Given the description of an element on the screen output the (x, y) to click on. 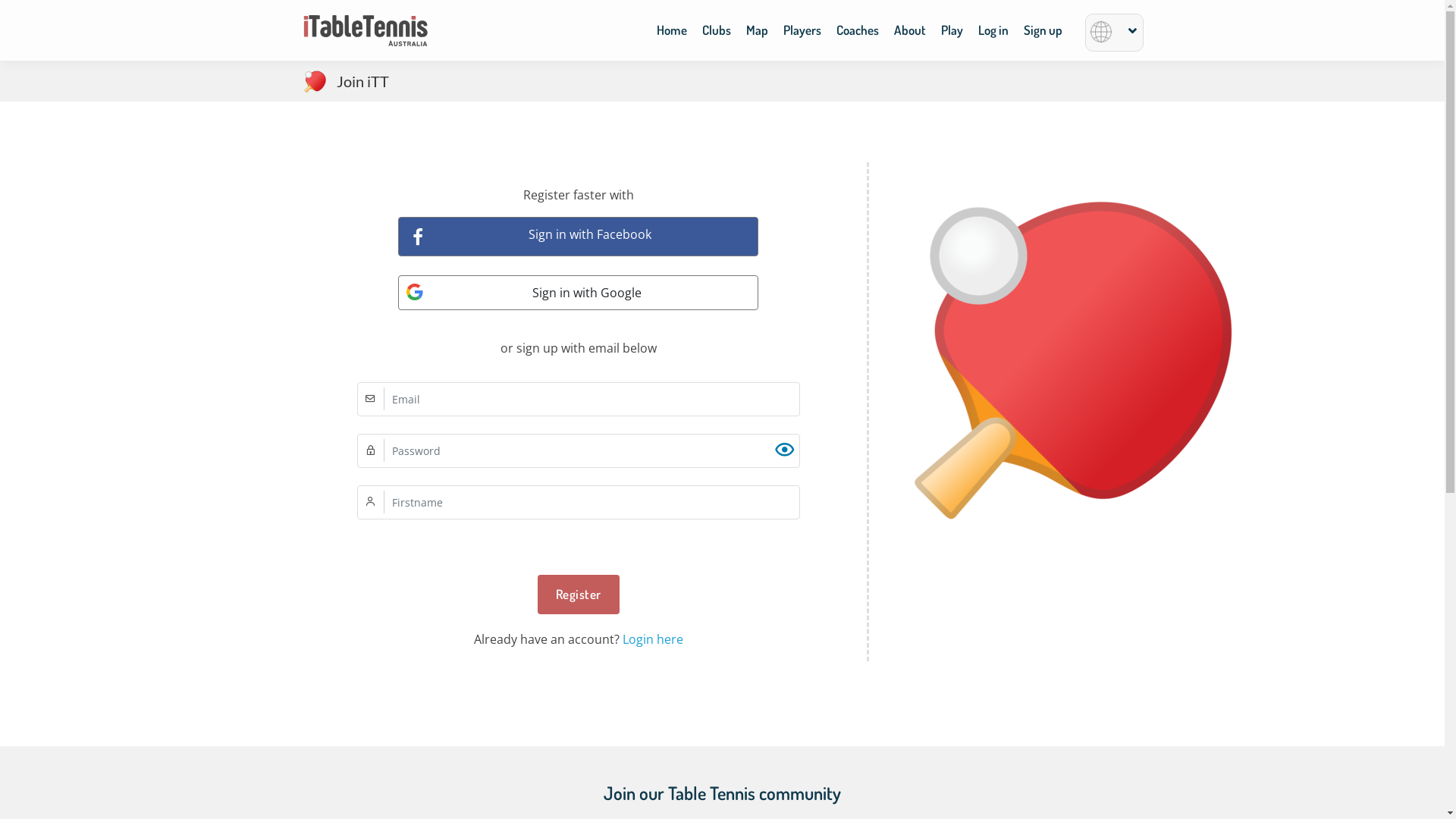
Login here Element type: text (651, 638)
Home Element type: text (671, 33)
Register Element type: text (577, 594)
Map Element type: text (757, 33)
About Element type: text (909, 33)
Sign in with Google Element type: text (578, 292)
Players Element type: text (801, 33)
Clubs Element type: text (716, 33)
Coaches Element type: text (856, 33)
Sign in with Facebook Element type: text (578, 236)
Log in Element type: text (993, 33)
Play Element type: text (951, 33)
Sign up Element type: text (1042, 33)
